Given the description of an element on the screen output the (x, y) to click on. 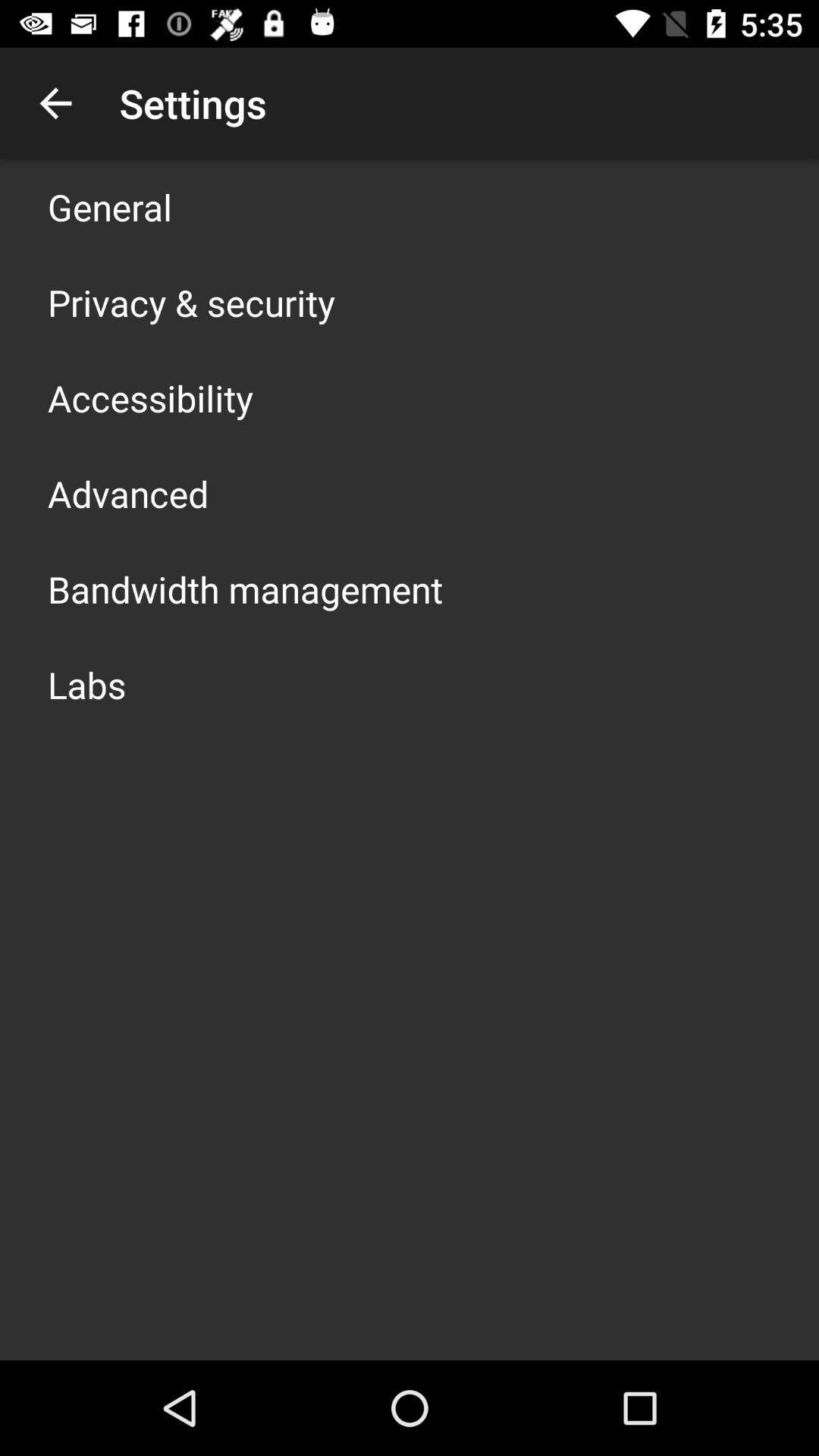
open labs item (86, 684)
